Given the description of an element on the screen output the (x, y) to click on. 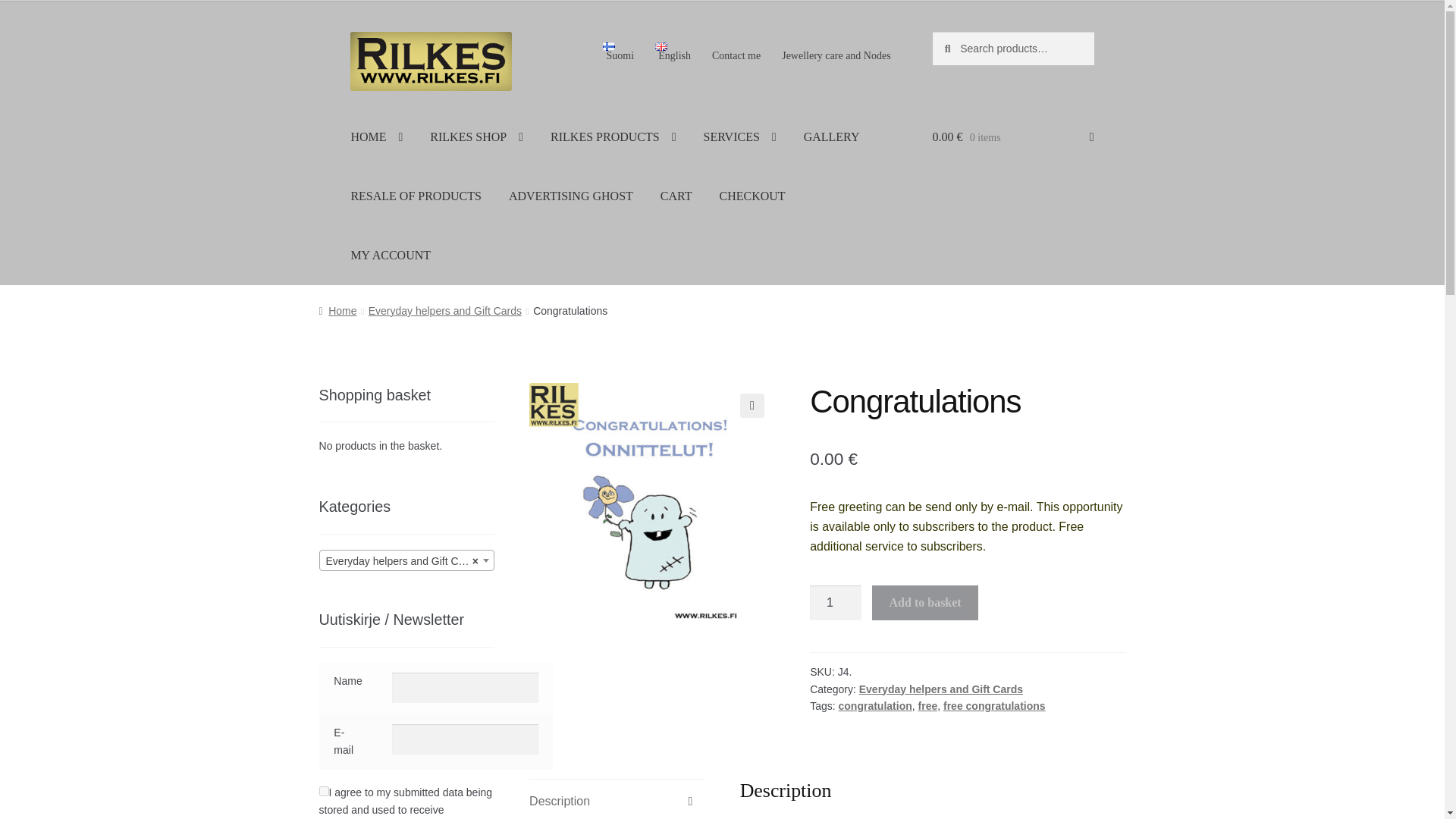
Jewellery care and Nodes (836, 56)
View your shopping basket (1013, 137)
onnittelut suomi eng (651, 505)
yes (323, 791)
HOME (375, 137)
RILKES SHOP (476, 137)
1 (835, 602)
Everyday helpers and Gift Cards (406, 560)
RILKES PRODUCTS (612, 137)
Contact me (736, 56)
Suomi (618, 51)
English (673, 51)
SERVICES (740, 137)
